Given the description of an element on the screen output the (x, y) to click on. 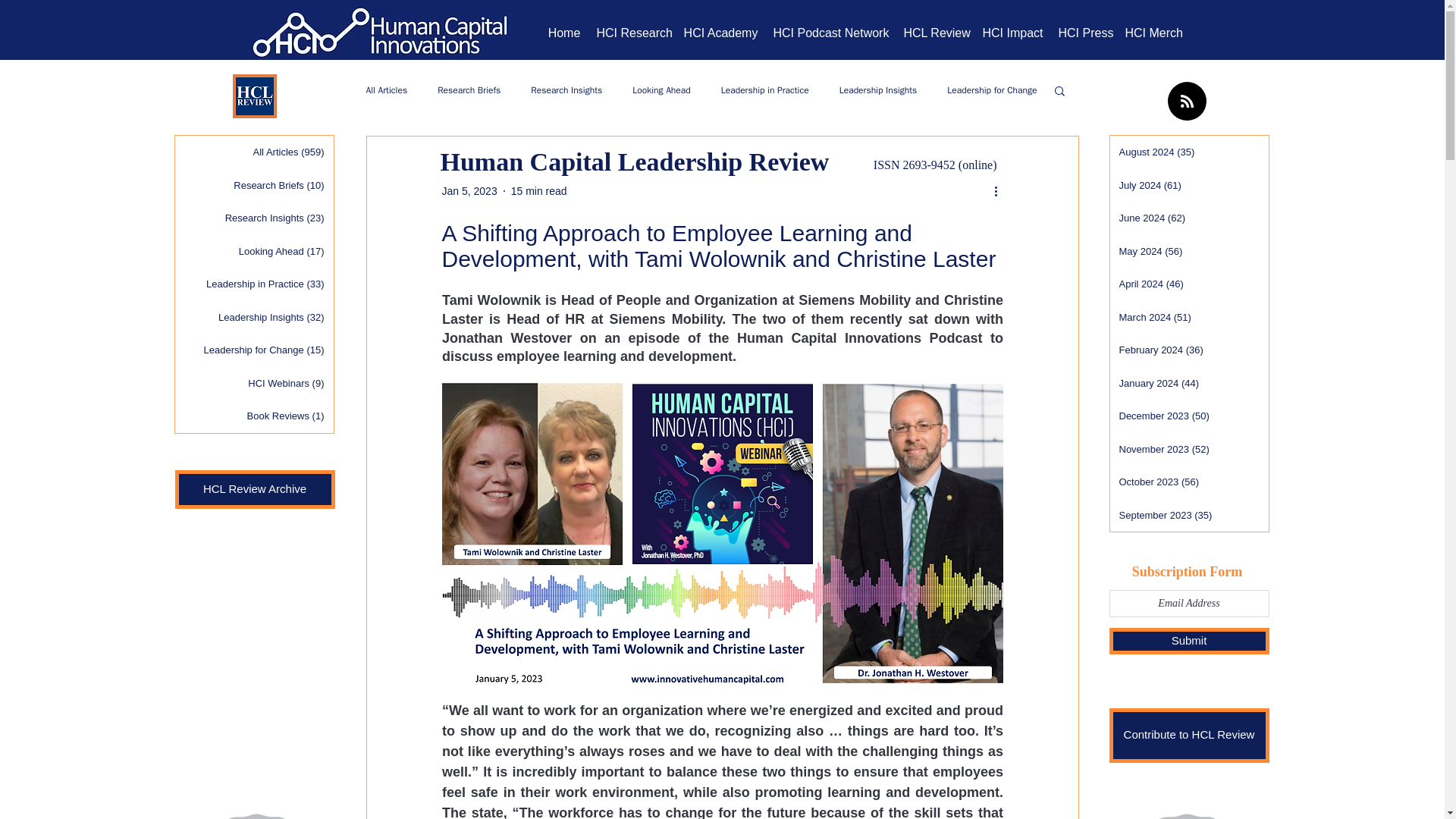
HCI Academy (721, 33)
HCI Podcast Network (830, 33)
HCI Impact (1013, 33)
HCL Review.png (253, 95)
15 min read (539, 191)
Home (564, 33)
HCI Research (631, 33)
Jan 5, 2023 (468, 191)
HCI Press (1084, 33)
HCI Merch (1154, 33)
